Given the description of an element on the screen output the (x, y) to click on. 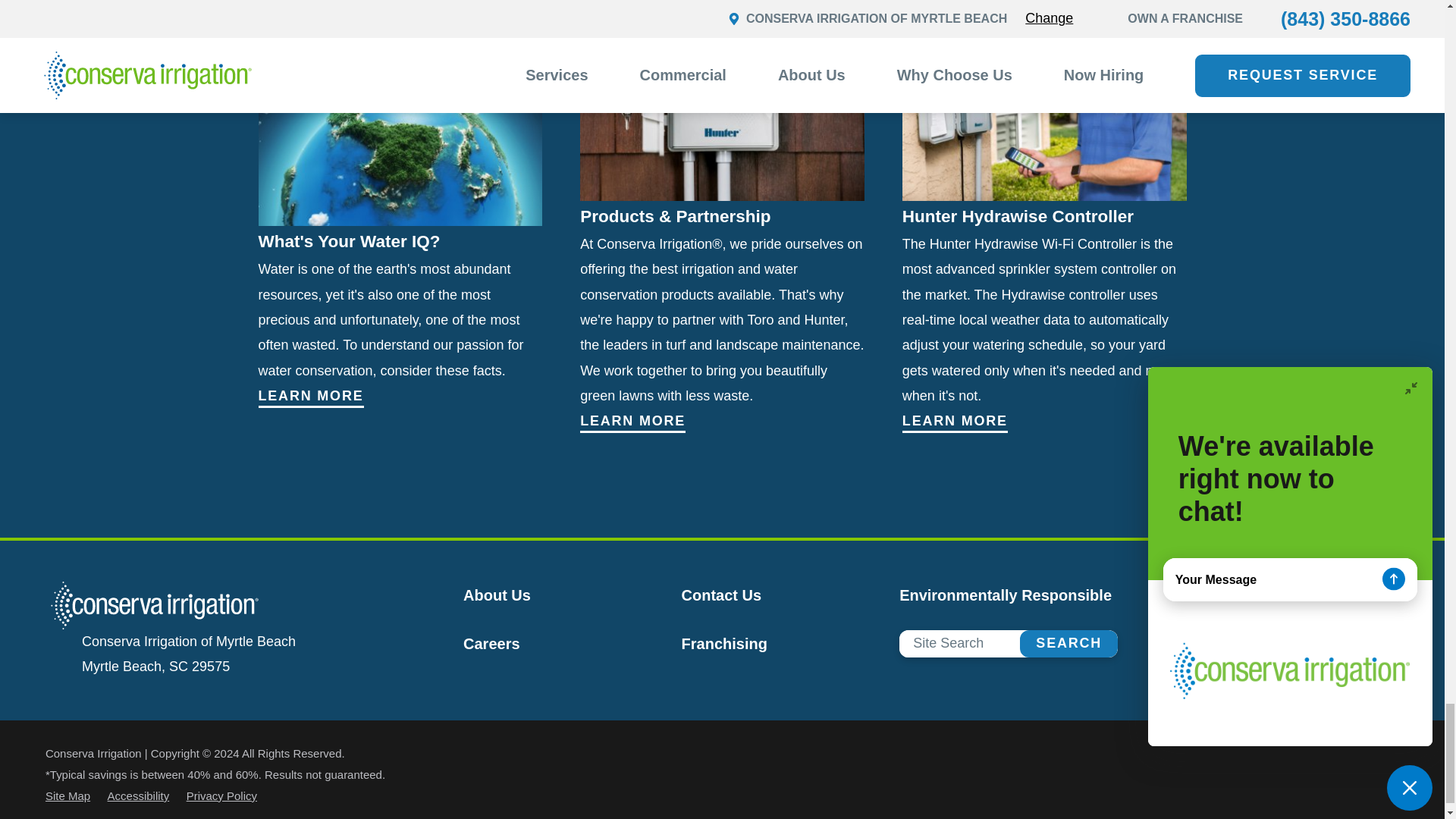
GooglePlus (1345, 625)
CareerPlug (1369, 625)
Facebook (1321, 625)
Instagram (1394, 625)
